Given the description of an element on the screen output the (x, y) to click on. 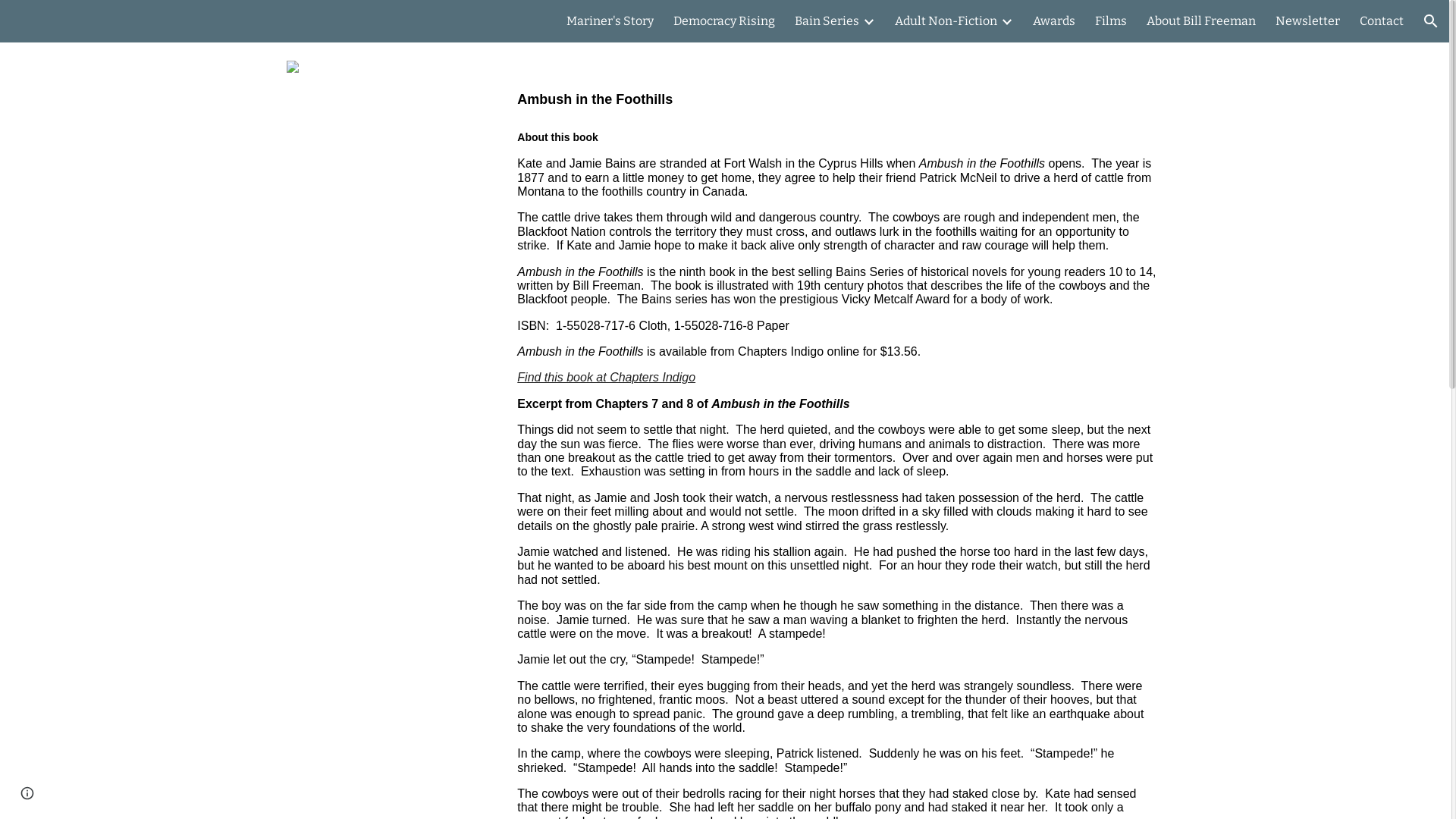
Films Element type: text (1110, 20)
About Bill Freeman Element type: text (1200, 20)
Find this book at Chapters Indigo Element type: text (606, 376)
Expand/Collapse Element type: hover (868, 20)
Adult Non-Fiction Element type: text (945, 20)
Mariner's Story Element type: text (609, 20)
Newsletter Element type: text (1307, 20)
Awards Element type: text (1053, 20)
Contact Element type: text (1381, 20)
Democracy Rising Element type: text (724, 20)
Bain Series Element type: text (826, 20)
Expand/Collapse Element type: hover (1006, 20)
